Given the description of an element on the screen output the (x, y) to click on. 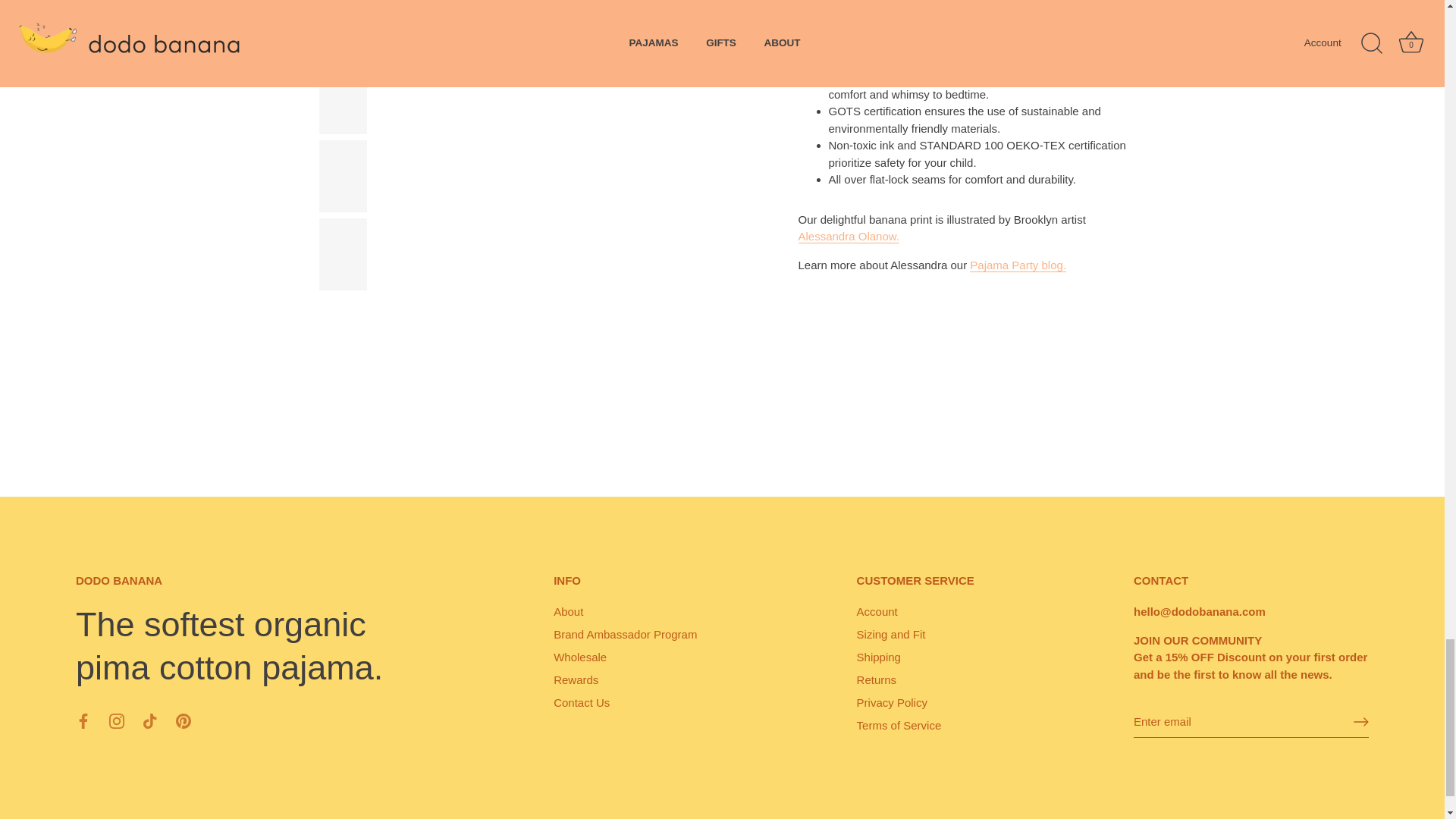
Pinterest (183, 720)
RIGHT ARROW LONG (1361, 721)
Instagram (116, 720)
